Given the description of an element on the screen output the (x, y) to click on. 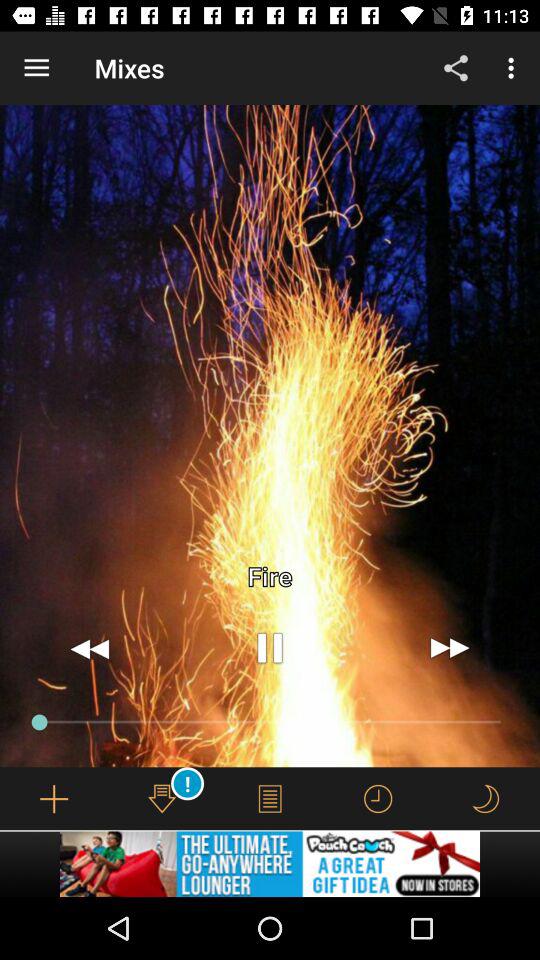
set the sleep mode (485, 798)
